Given the description of an element on the screen output the (x, y) to click on. 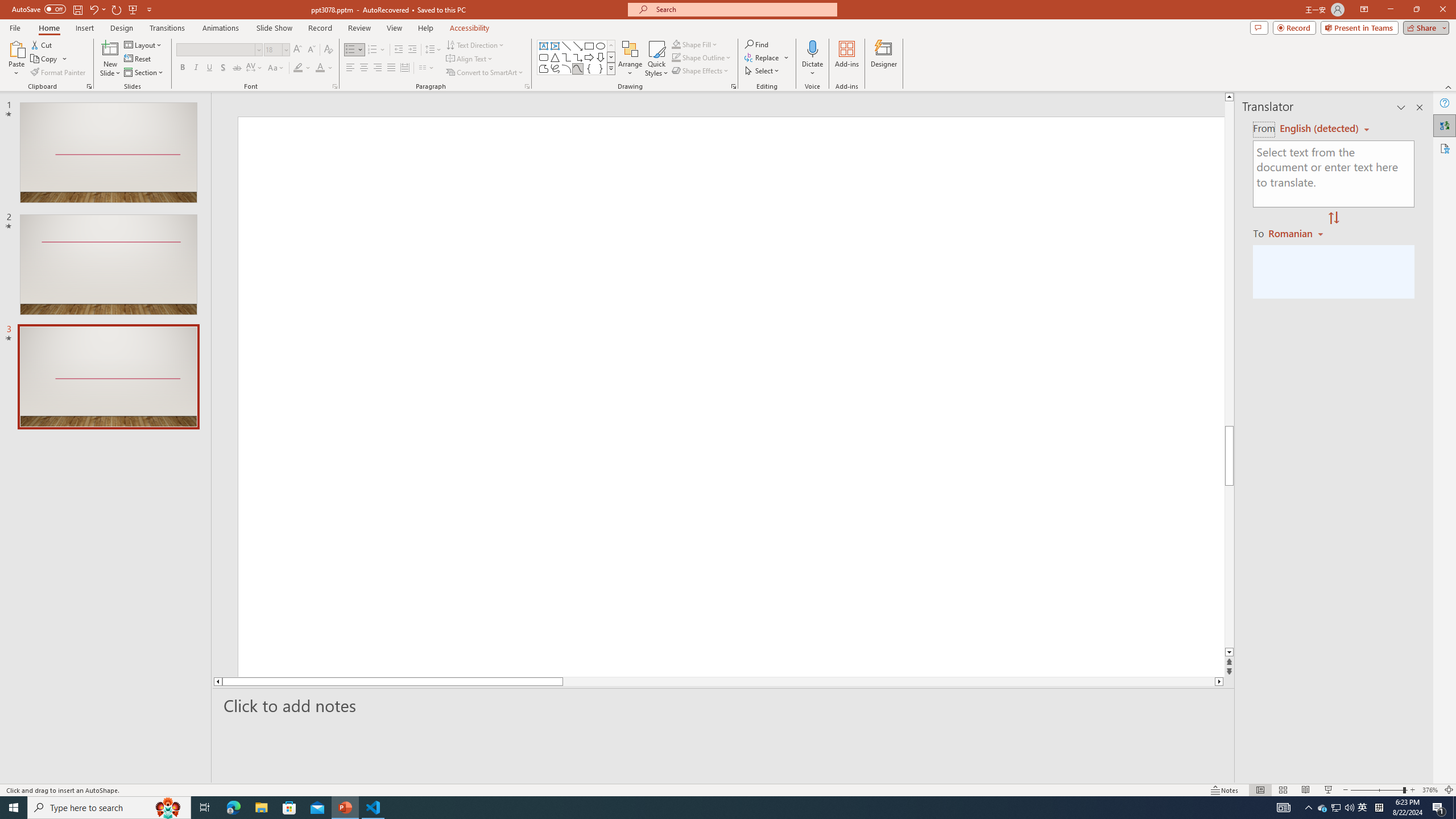
Swap "from" and "to" languages. (1333, 218)
